Given the description of an element on the screen output the (x, y) to click on. 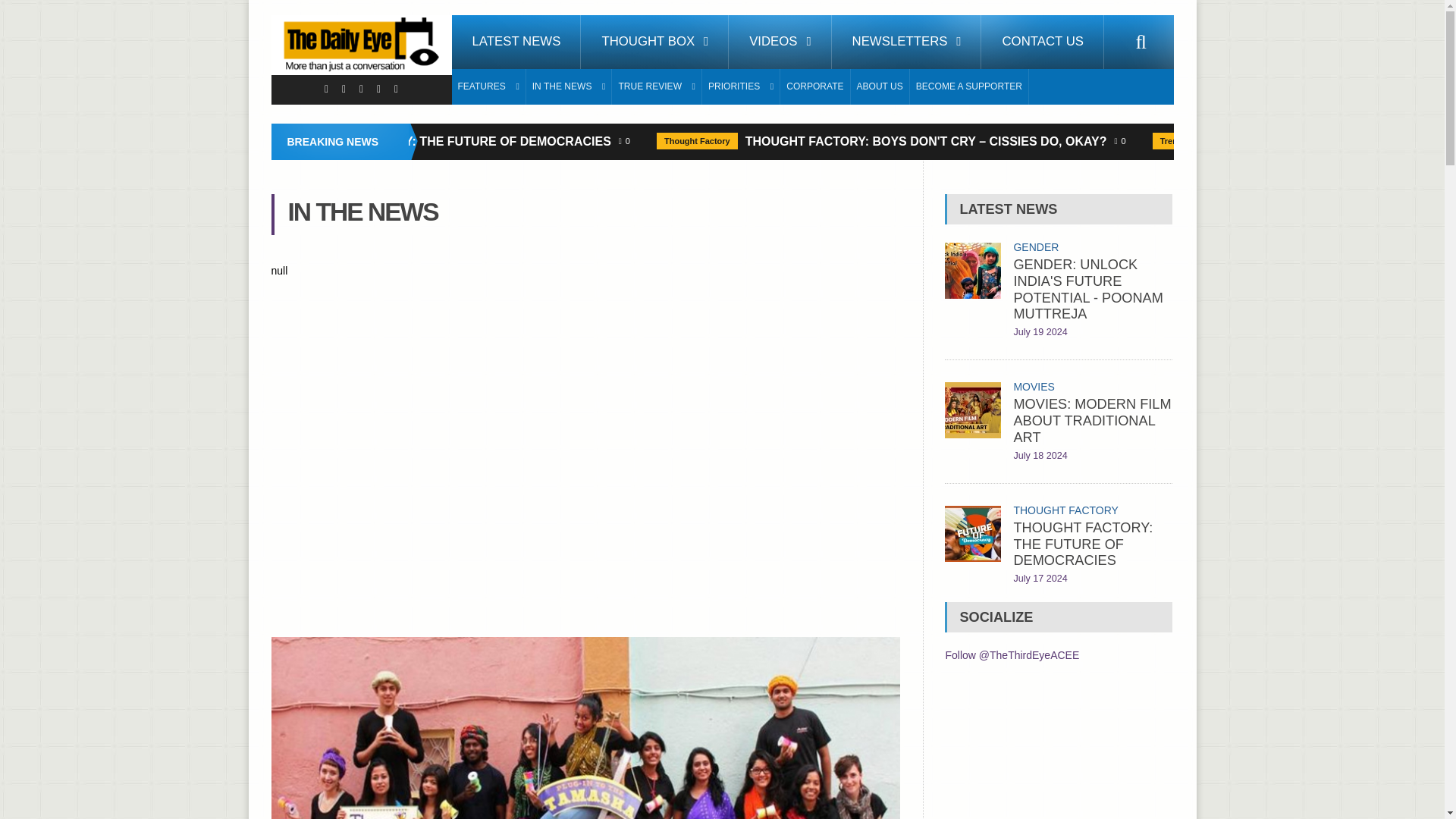
VIDEOS (780, 41)
LATEST NEWS (515, 41)
THOUGHT BOX (654, 41)
Advertisement (1058, 752)
search (1140, 42)
NEWSLETTERS (906, 41)
